Given the description of an element on the screen output the (x, y) to click on. 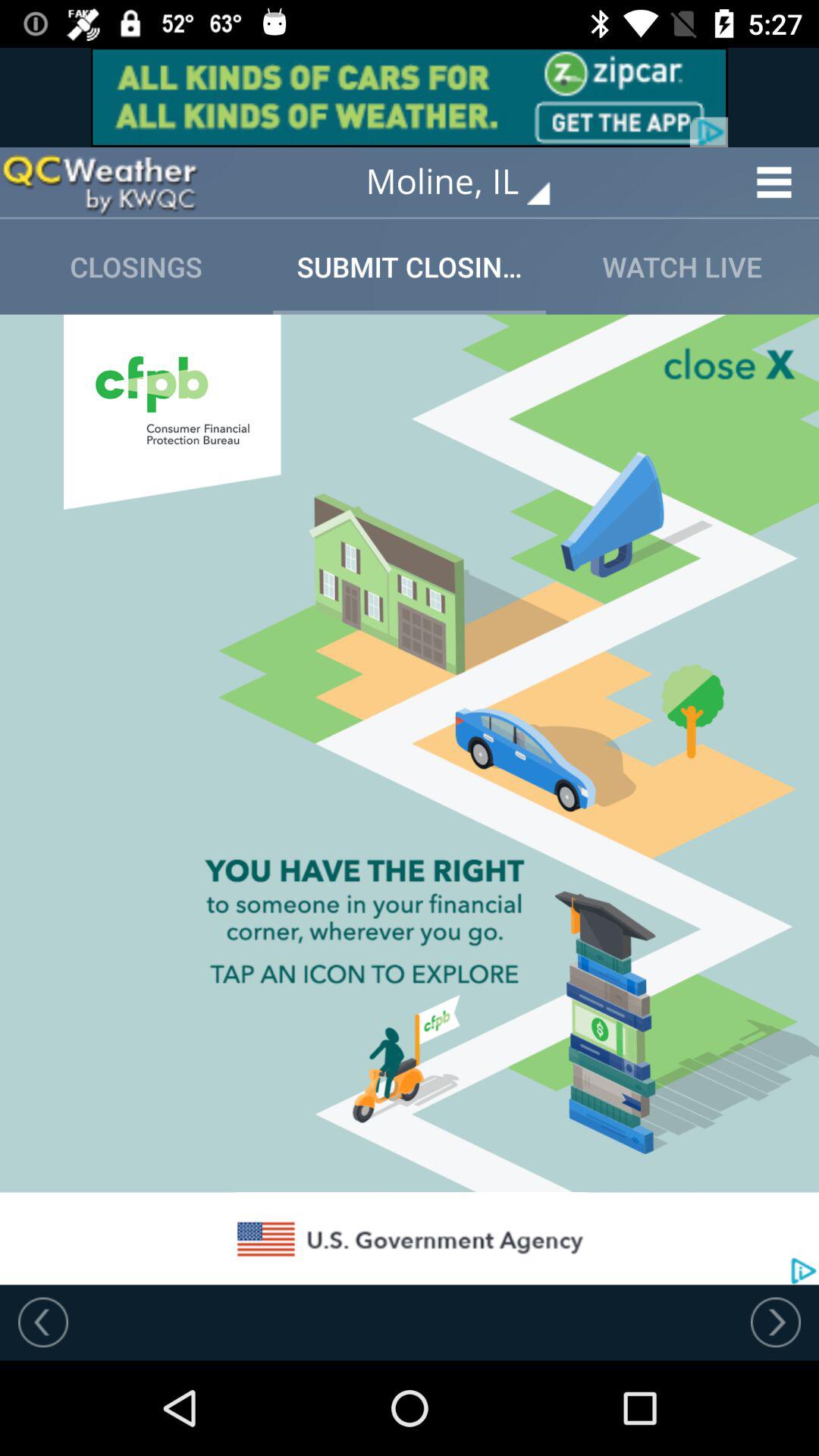
advertising (409, 97)
